Given the description of an element on the screen output the (x, y) to click on. 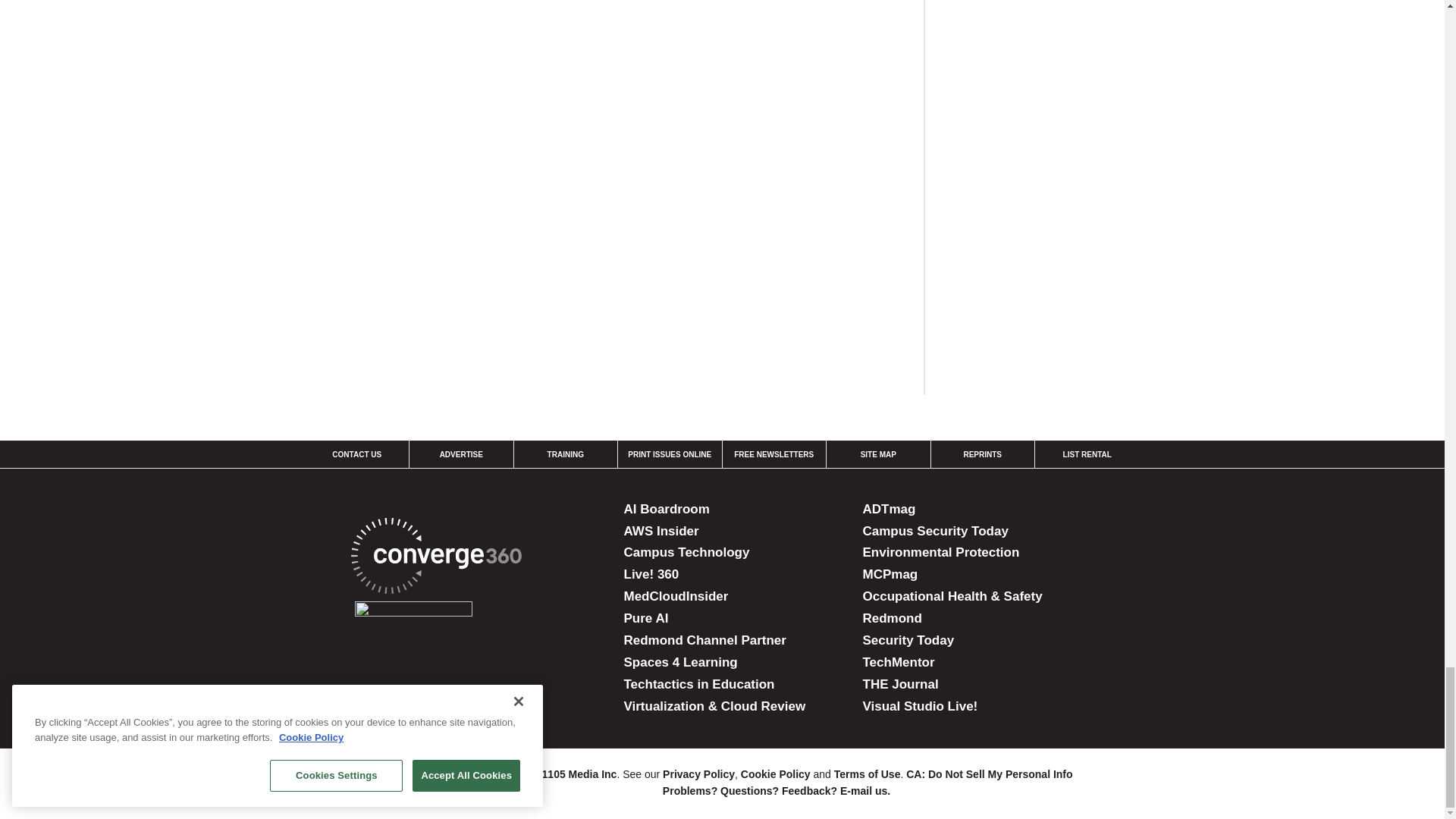
3rd party ad content (1059, 64)
3rd party ad content (1059, 262)
